Given the description of an element on the screen output the (x, y) to click on. 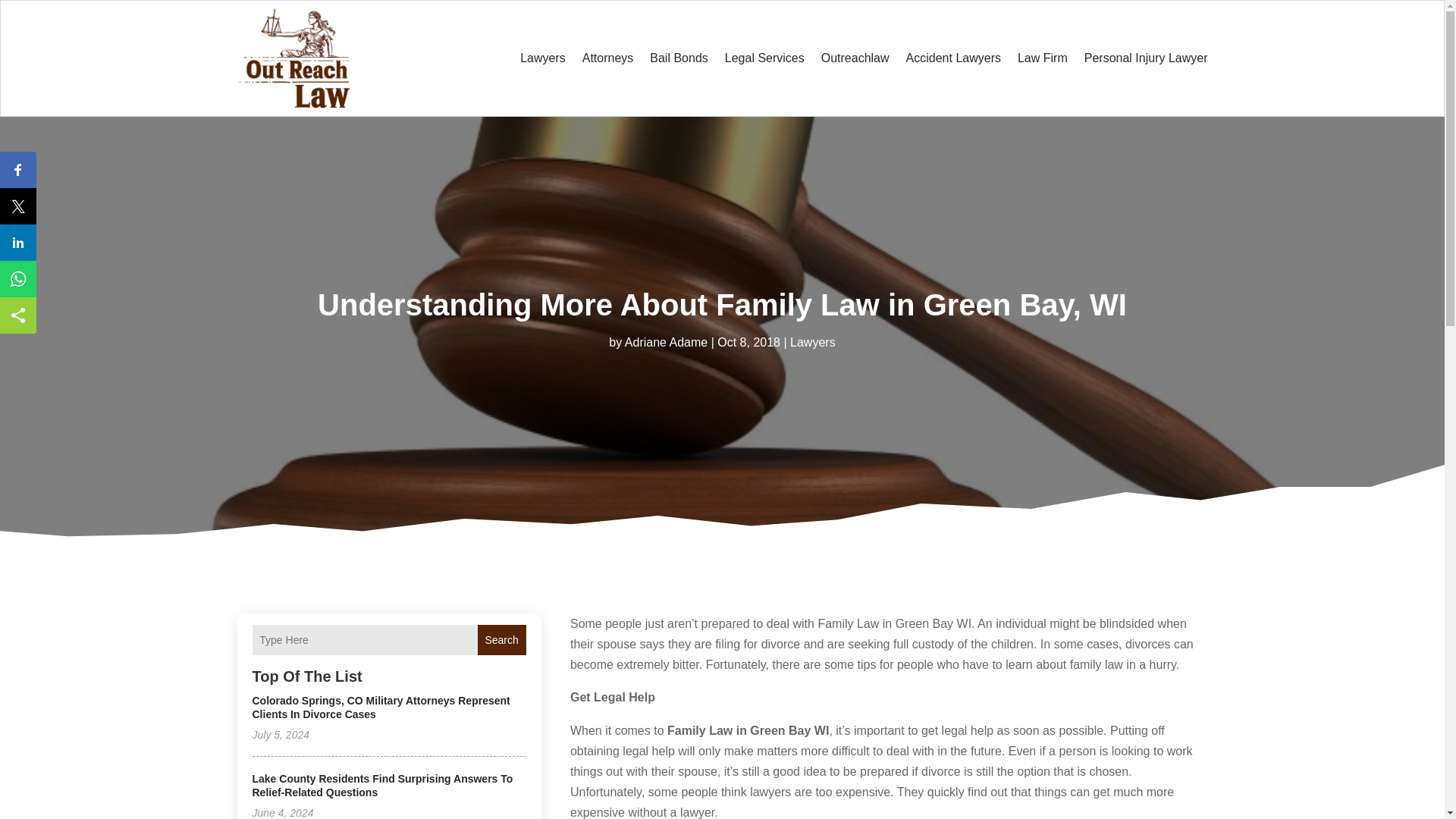
Posts by Adriane Adame (665, 341)
Personal Injury Lawyer (1146, 58)
Adriane Adame (665, 341)
Accident Lawyers (953, 58)
Lawyers (812, 341)
Search (501, 639)
